Given the description of an element on the screen output the (x, y) to click on. 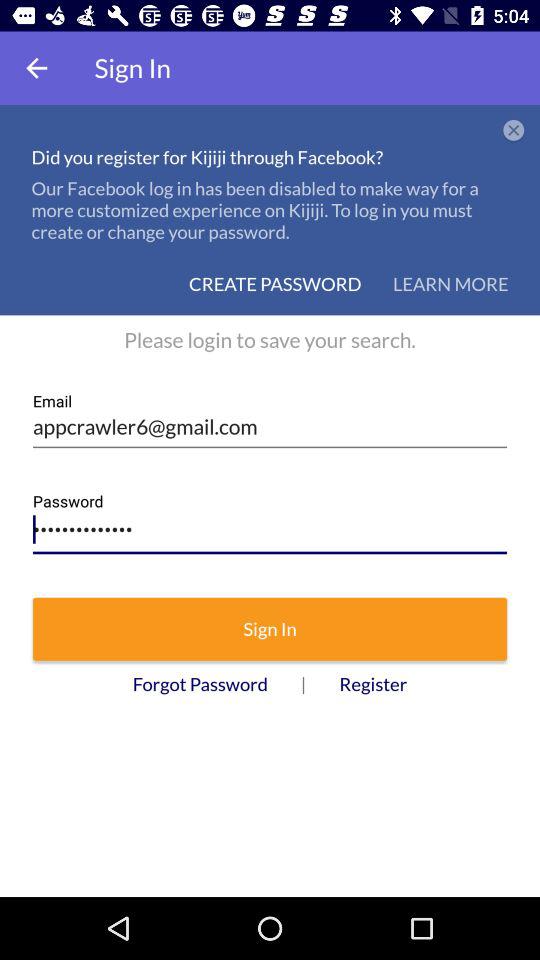
turn off the icon to the right of create password item (450, 283)
